Given the description of an element on the screen output the (x, y) to click on. 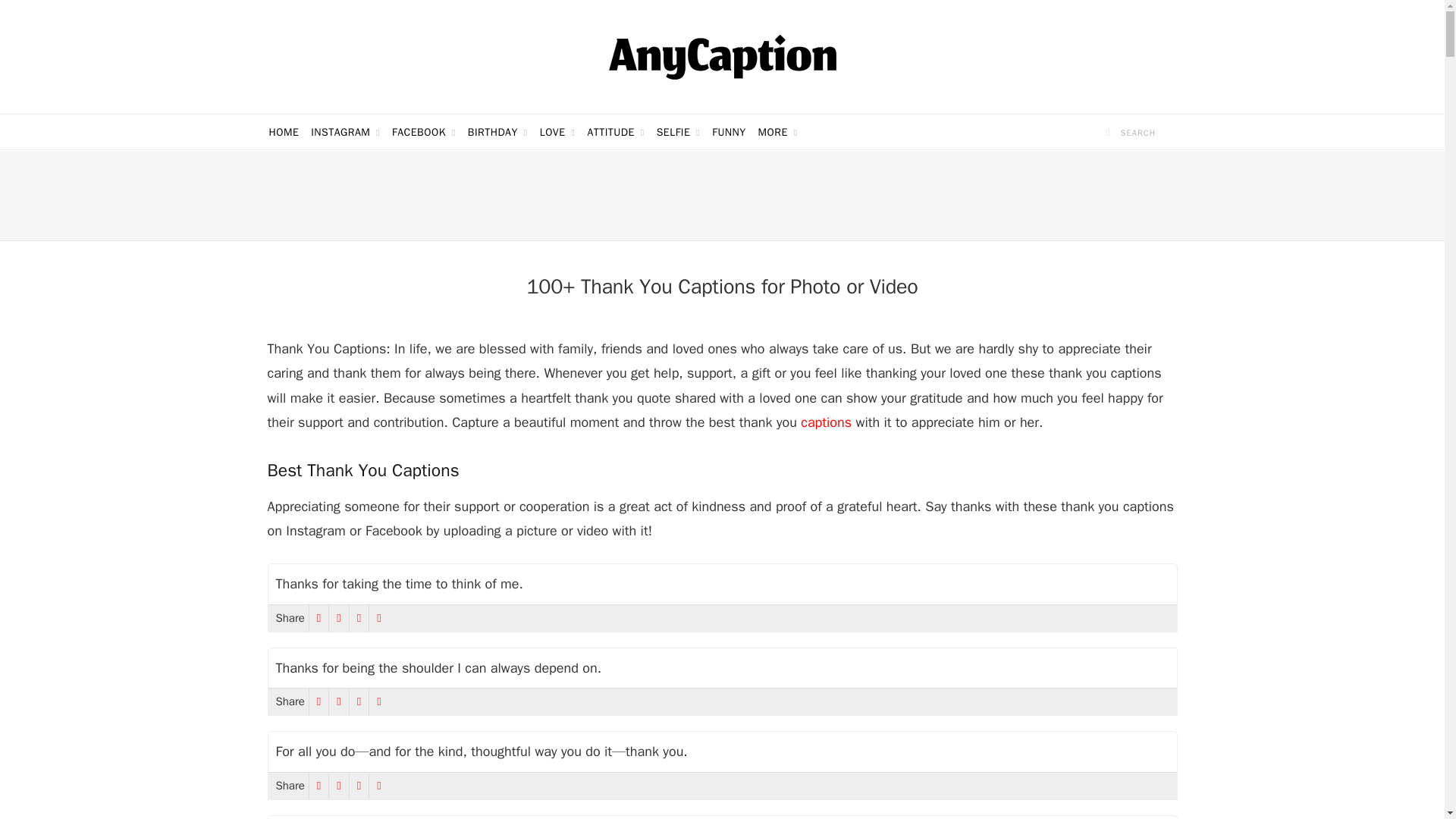
Advertisement (721, 195)
LOVE (557, 132)
FACEBOOK (423, 132)
Any Caption (721, 56)
INSTAGRAM (344, 132)
FUNNY (728, 132)
BIRTHDAY (497, 132)
HOME (283, 132)
MORE (777, 132)
SELFIE (678, 132)
